Given the description of an element on the screen output the (x, y) to click on. 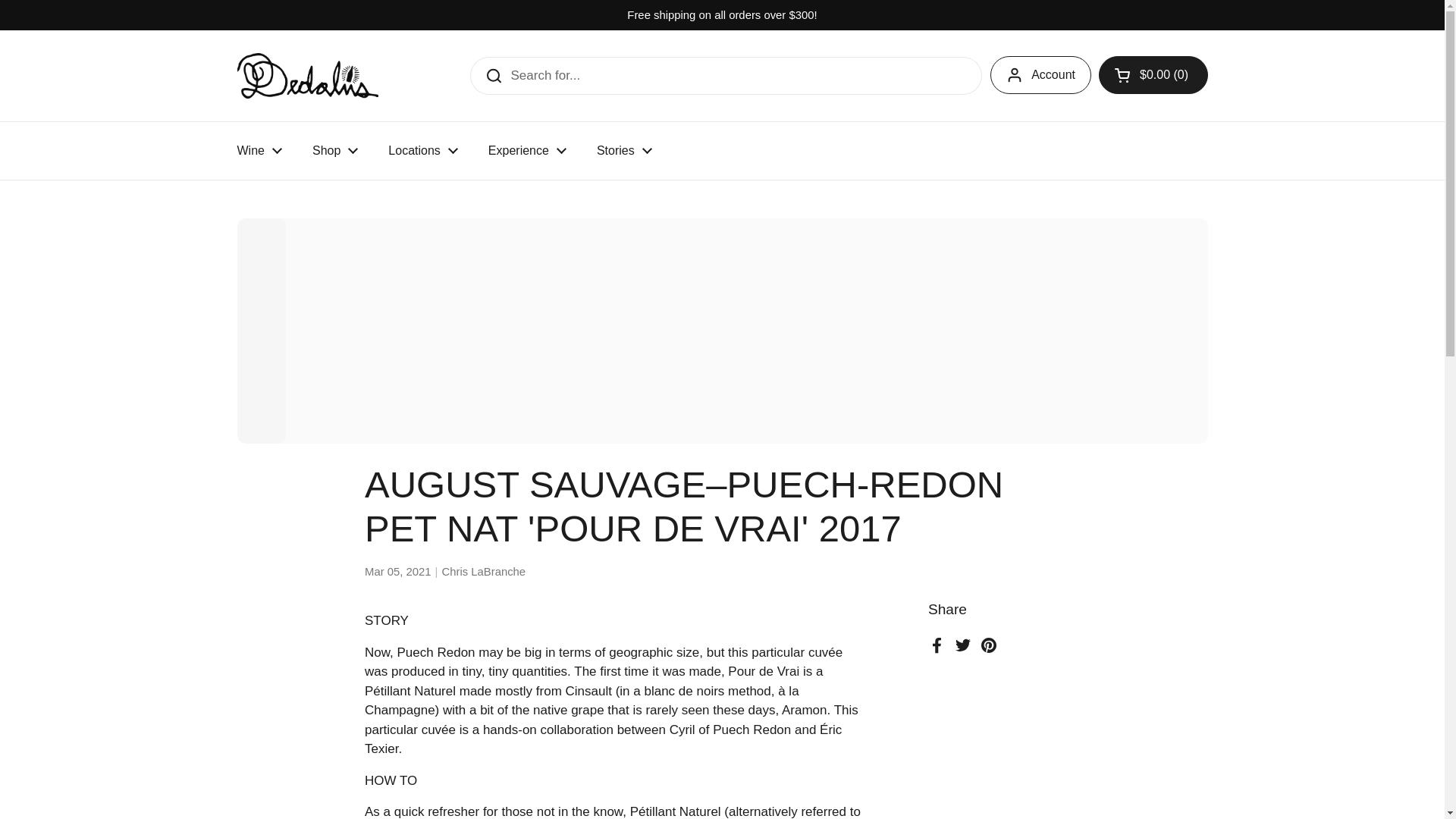
Account (1040, 75)
Dedalus Wine Shop (306, 75)
Wine (259, 150)
Open cart (1153, 75)
